Given the description of an element on the screen output the (x, y) to click on. 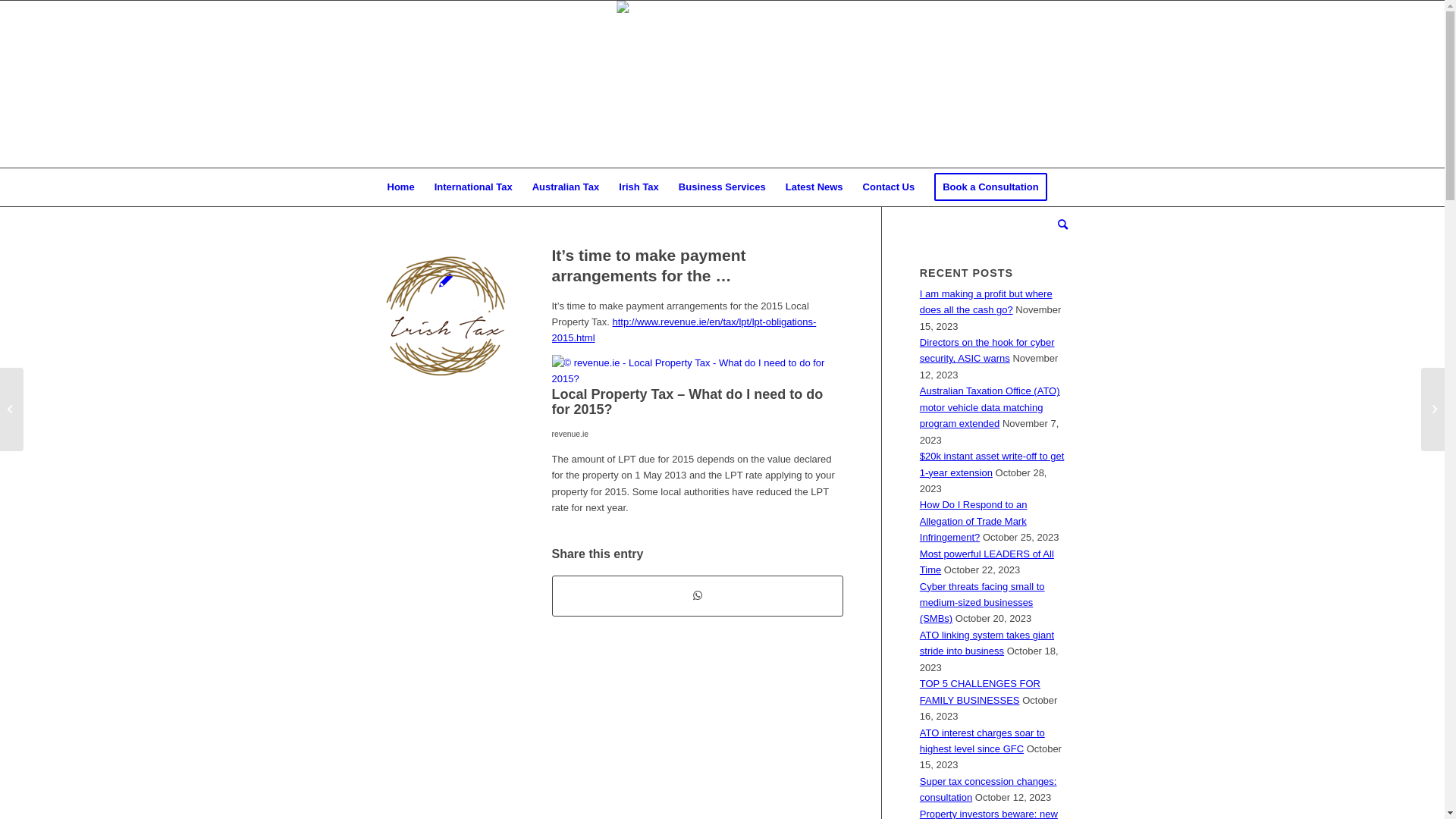
Book a Consultation Element type: text (990, 187)
Most powerful LEADERS of All Time Element type: text (986, 561)
Cyber threats facing small to medium-sized businesses (SMBs) Element type: text (981, 602)
I am making a profit but where does all the cash go? Element type: text (985, 301)
oconnoremmet Element type: hover (722, 35)
Australian Tax Element type: text (565, 187)
Home Element type: text (400, 187)
ATO interest charges soar to highest level since GFC Element type: text (981, 740)
http://www.revenue.ie/en/tax/lpt/lpt-obligations-2015.html Element type: text (684, 329)
TOP 5 CHALLENGES FOR FAMILY BUSINESSES Element type: text (979, 691)
Super tax concession changes: consultation Element type: text (988, 789)
International Tax Element type: text (473, 187)
Latest News Element type: text (814, 187)
$20k instant asset write-off to get 1-year extension Element type: text (991, 463)
ATO linking system takes giant stride into business Element type: text (986, 642)
Business Services Element type: text (721, 187)
Directors on the hook for cyber security, ASIC warns Element type: text (986, 350)
Irish Tax Element type: text (638, 187)
Contact Us Element type: text (889, 187)
irishtax-logo-sq Element type: hover (445, 317)
